Given the description of an element on the screen output the (x, y) to click on. 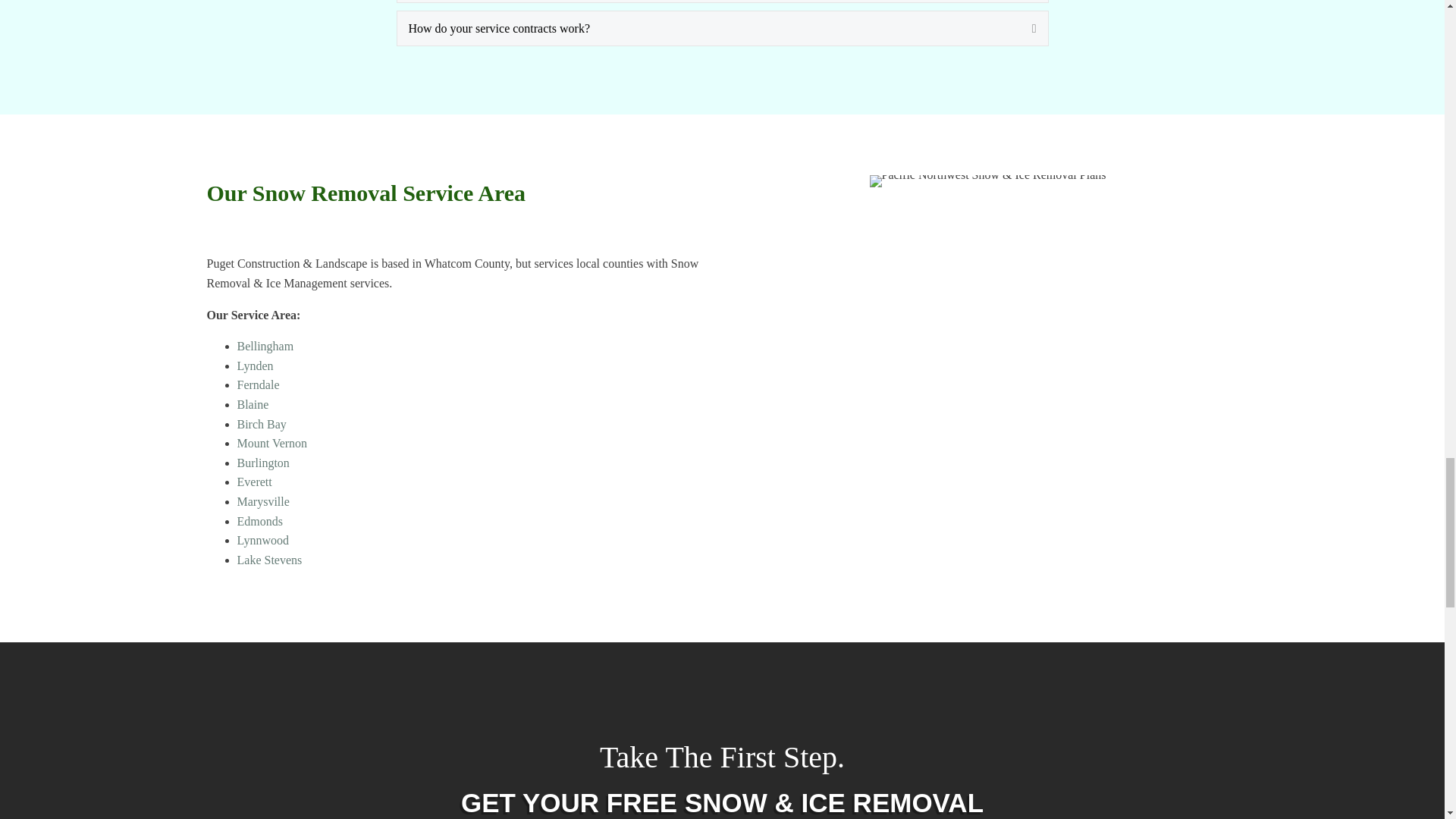
How do your service contracts work? (708, 28)
